Given the description of an element on the screen output the (x, y) to click on. 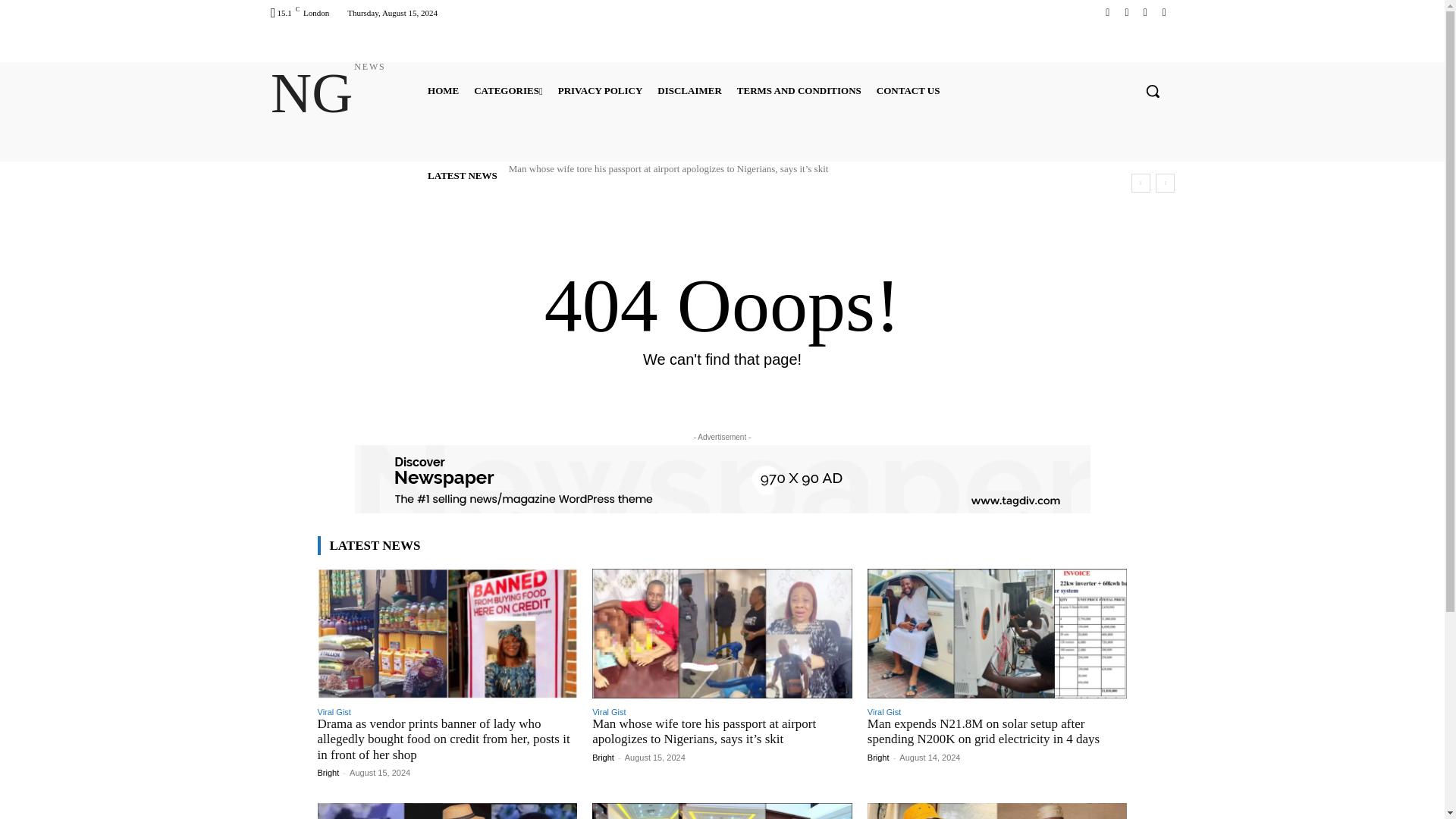
Instagram (1125, 12)
Twitter (327, 93)
CATEGORIES (1144, 12)
HOME (507, 90)
DISCLAIMER (443, 90)
Youtube (689, 90)
TERMS AND CONDITIONS (1163, 12)
Facebook (798, 90)
PRIVACY POLICY (1106, 12)
